Given the description of an element on the screen output the (x, y) to click on. 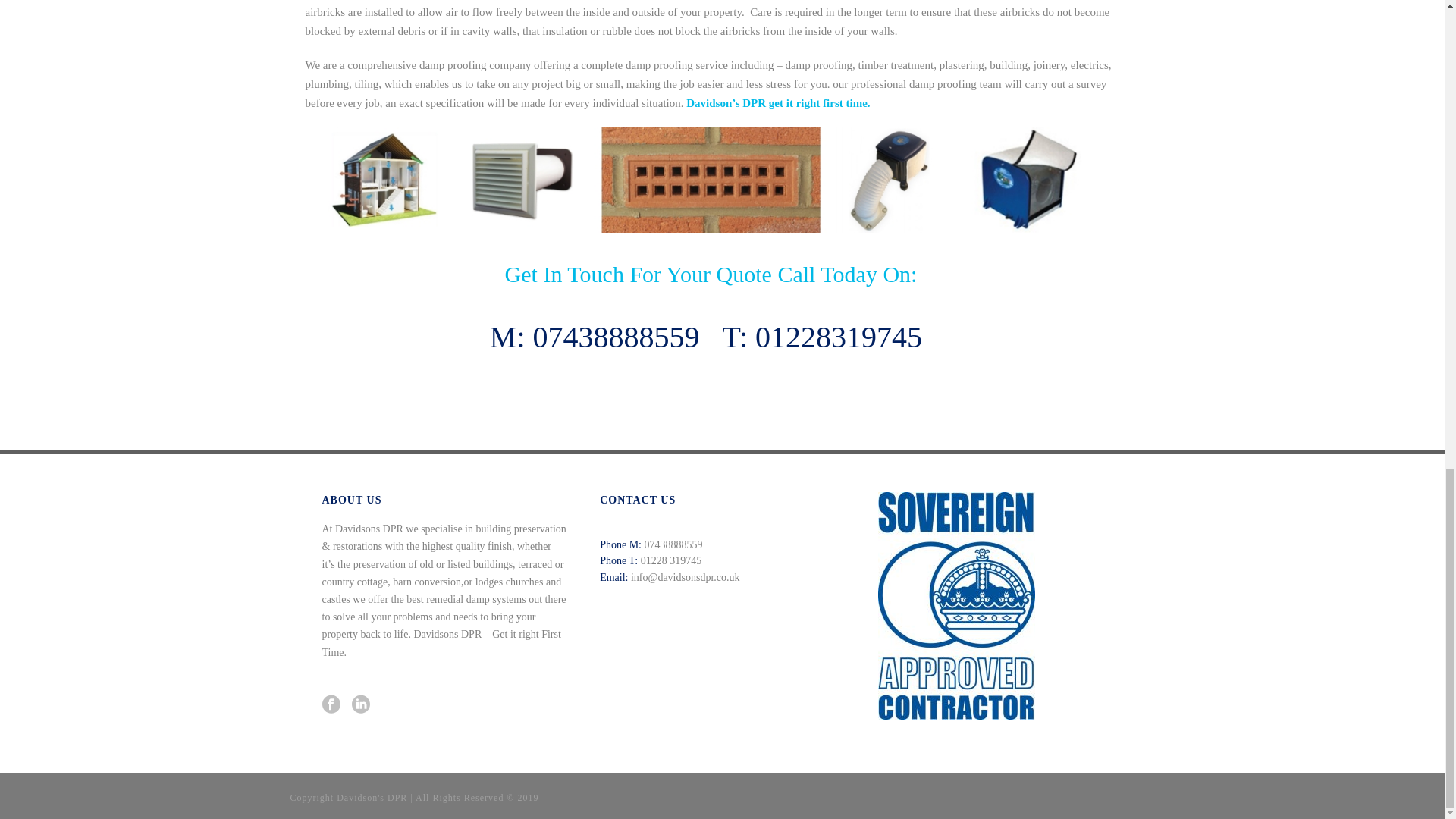
 linkedin (360, 705)
01228319745 (838, 336)
bottom-images (710, 179)
07438888559 (615, 336)
 facebook (330, 705)
